Given the description of an element on the screen output the (x, y) to click on. 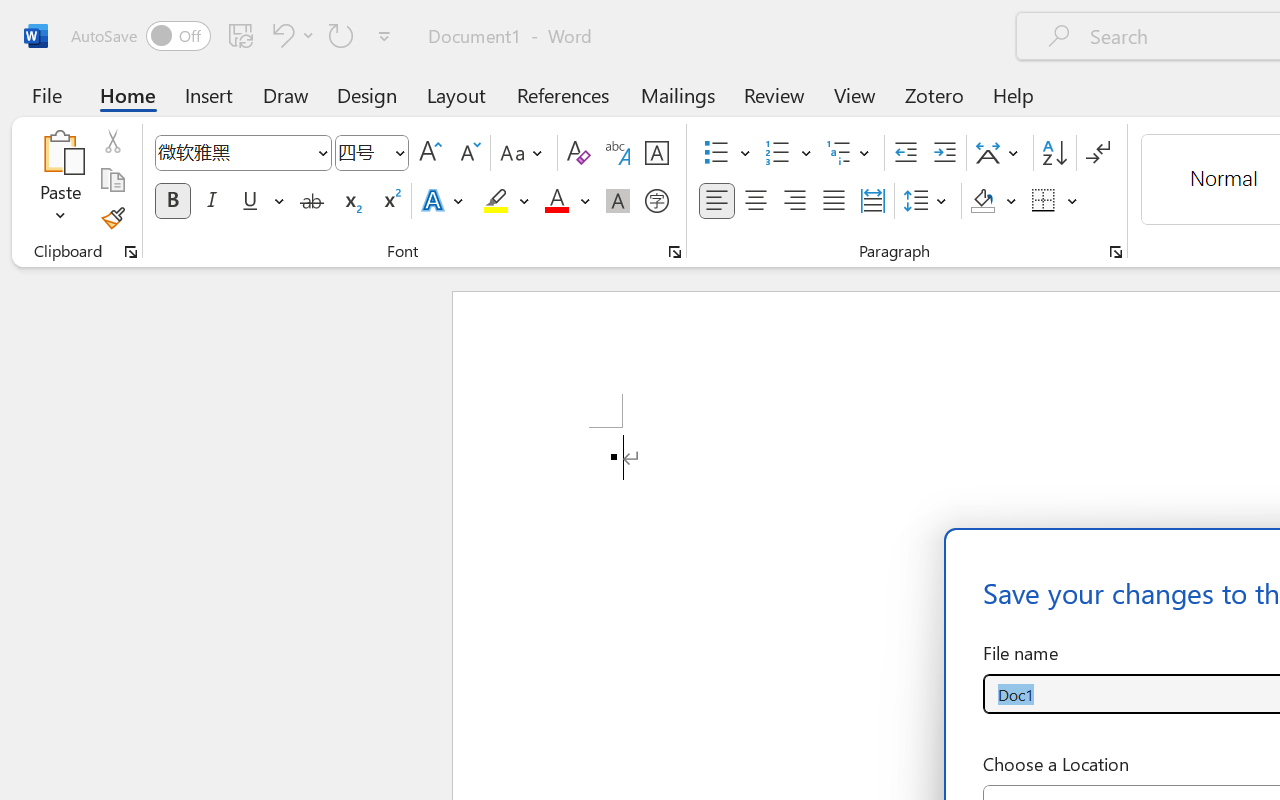
Font Color Red (556, 201)
Repeat Style (341, 35)
